Given the description of an element on the screen output the (x, y) to click on. 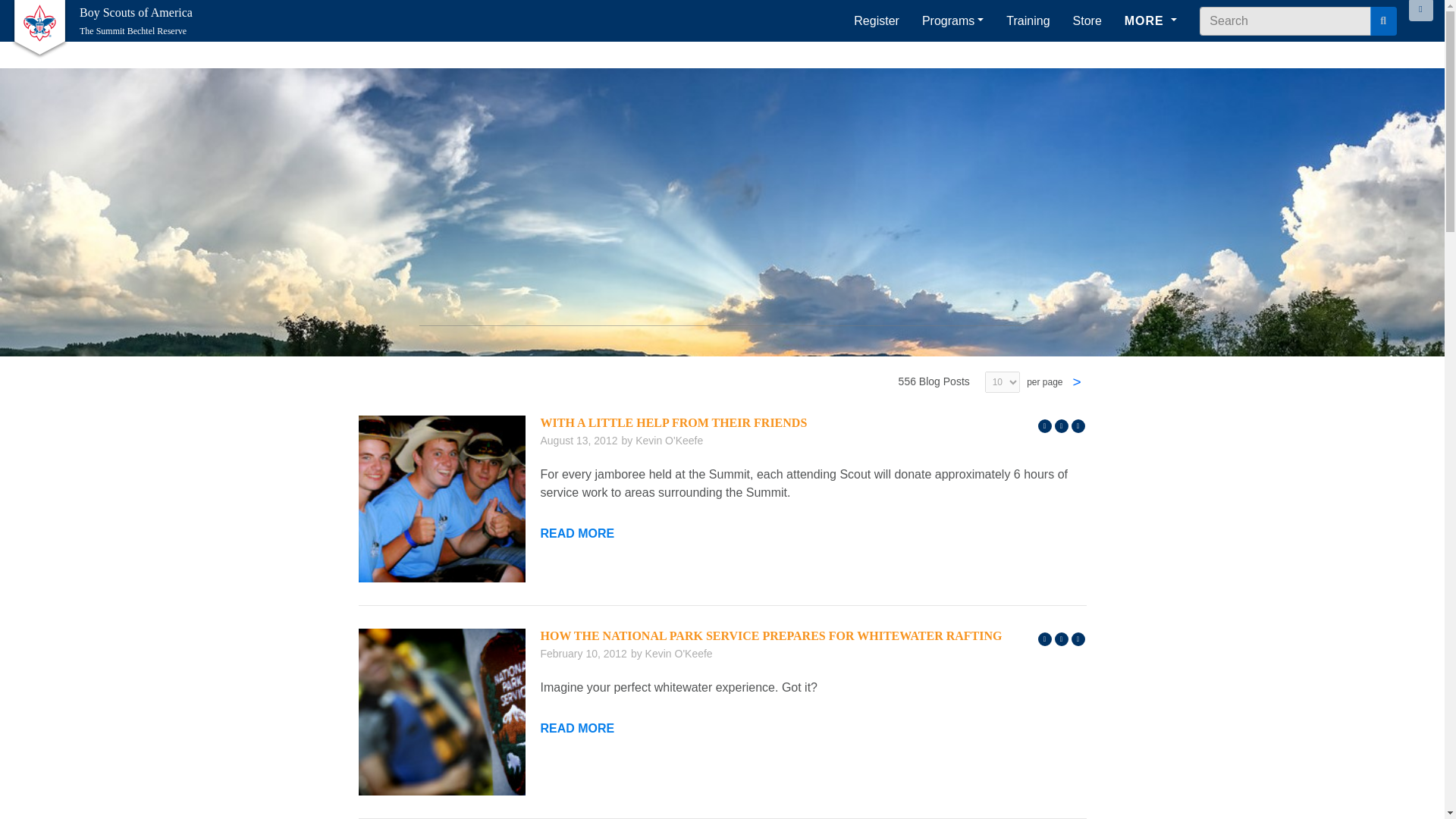
Store (1087, 21)
Register (876, 21)
Programs (952, 21)
Search (1383, 20)
Store (1087, 21)
Register (876, 21)
Training (1027, 21)
Programs (952, 21)
MORE (1150, 21)
Training (1027, 21)
